Given the description of an element on the screen output the (x, y) to click on. 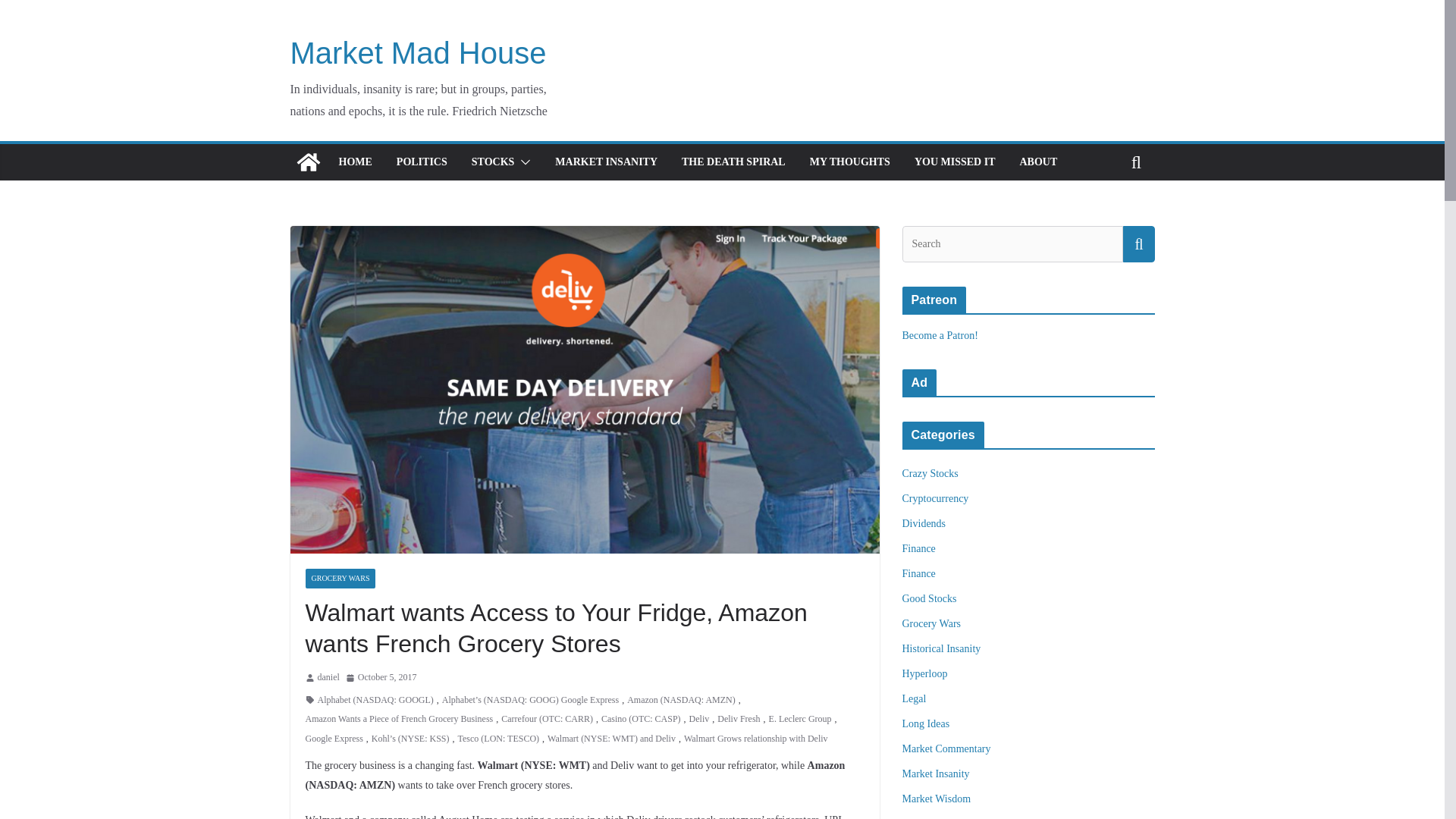
Market Mad House (417, 52)
MARKET INSANITY (606, 161)
Deliv Fresh (738, 719)
Market Mad House (417, 52)
YOU MISSED IT (954, 161)
2:59 pm (381, 677)
E. Leclerc Group (799, 719)
Walmart Grows relationship with Deliv (756, 739)
daniel (328, 677)
THE DEATH SPIRAL (733, 161)
